Given the description of an element on the screen output the (x, y) to click on. 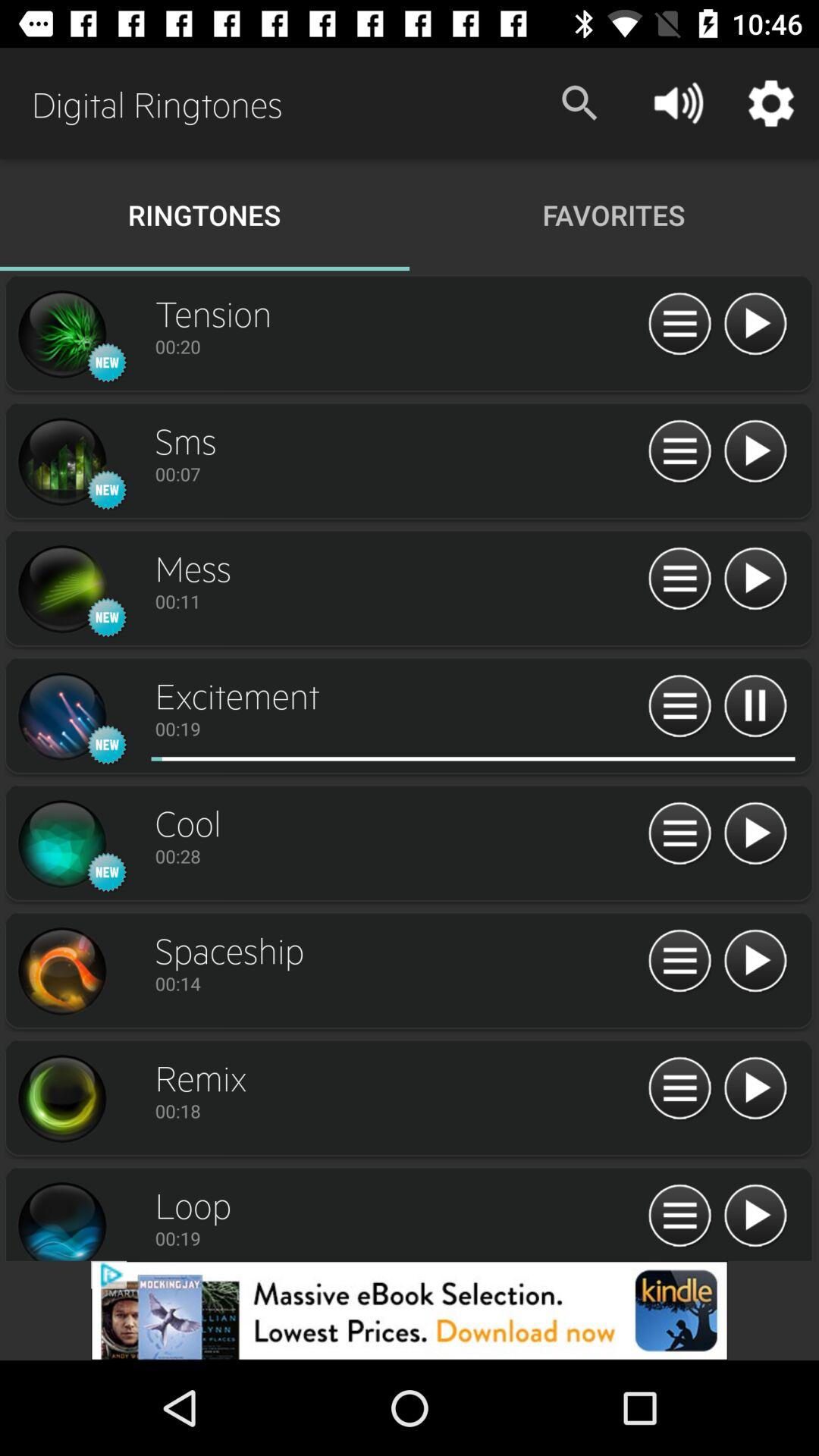
play the sound (755, 579)
